Given the description of an element on the screen output the (x, y) to click on. 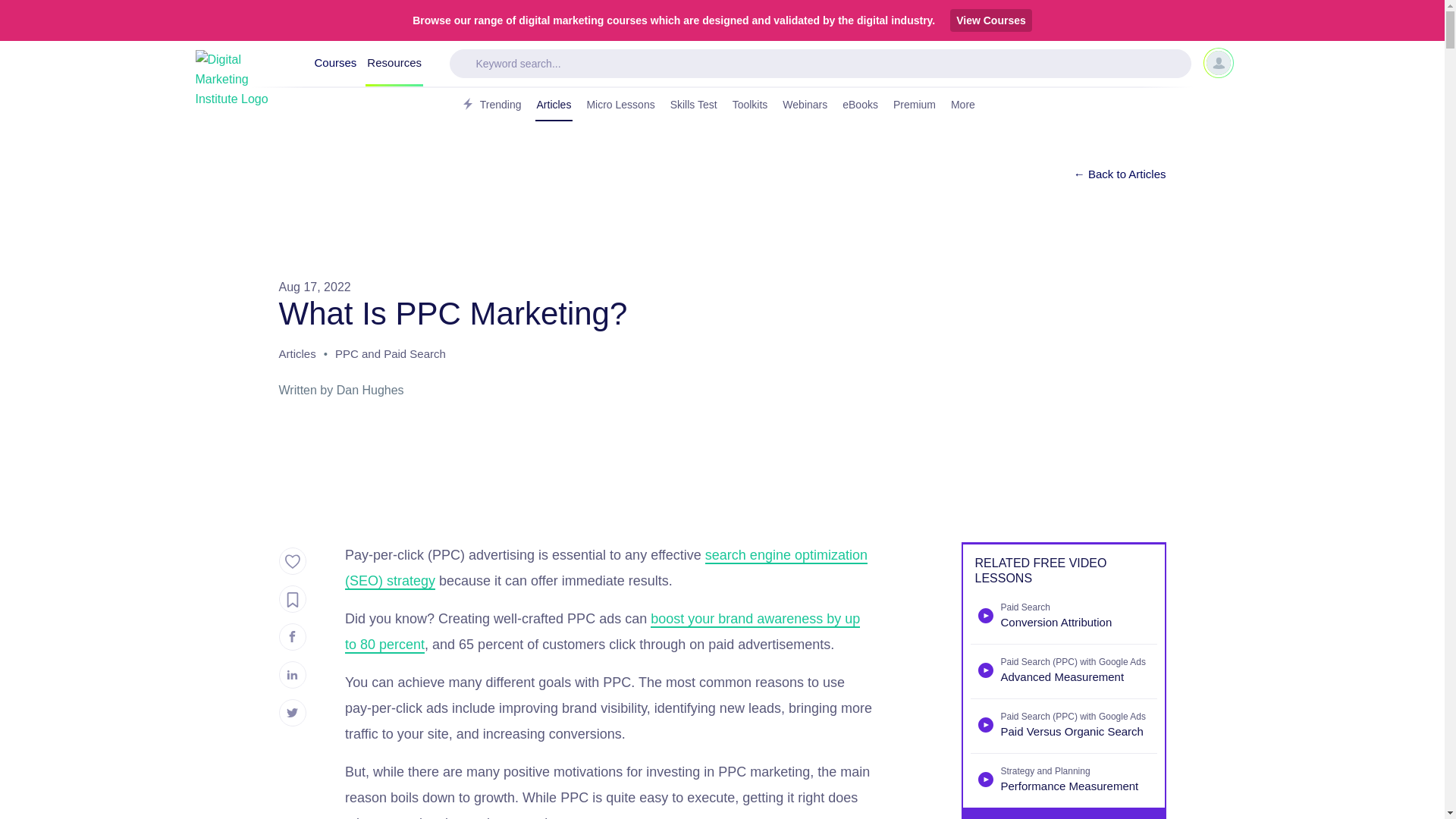
Click to share this post on Twitter (292, 712)
boost your brand awareness by up to 80 percent (602, 631)
View Courses (991, 20)
Trending (489, 104)
Toolkits (750, 104)
Webinars (804, 104)
Skills Test (693, 104)
Articles (554, 104)
More (968, 104)
Premium (914, 104)
